Given the description of an element on the screen output the (x, y) to click on. 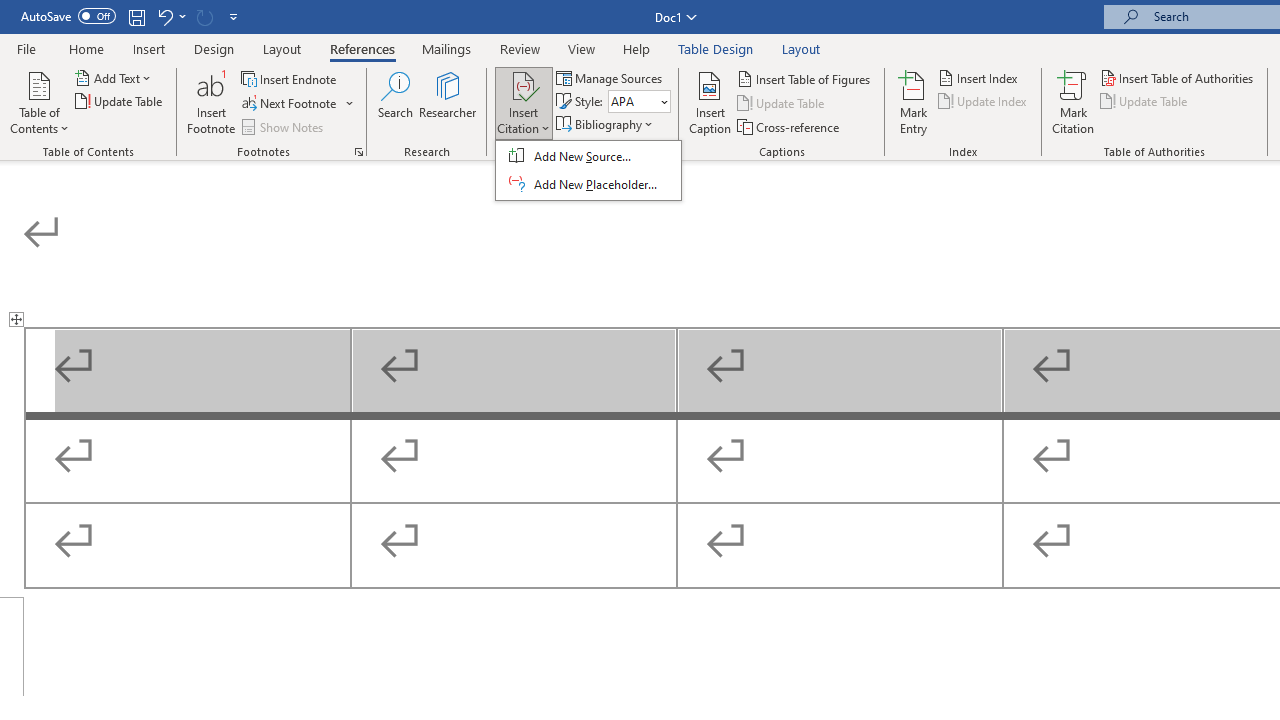
Can't Repeat (204, 15)
Mark Citation... (1072, 102)
Update Index (984, 101)
Show Notes (284, 126)
Cross-reference... (789, 126)
Style (639, 101)
Manage Sources... (610, 78)
